Given the description of an element on the screen output the (x, y) to click on. 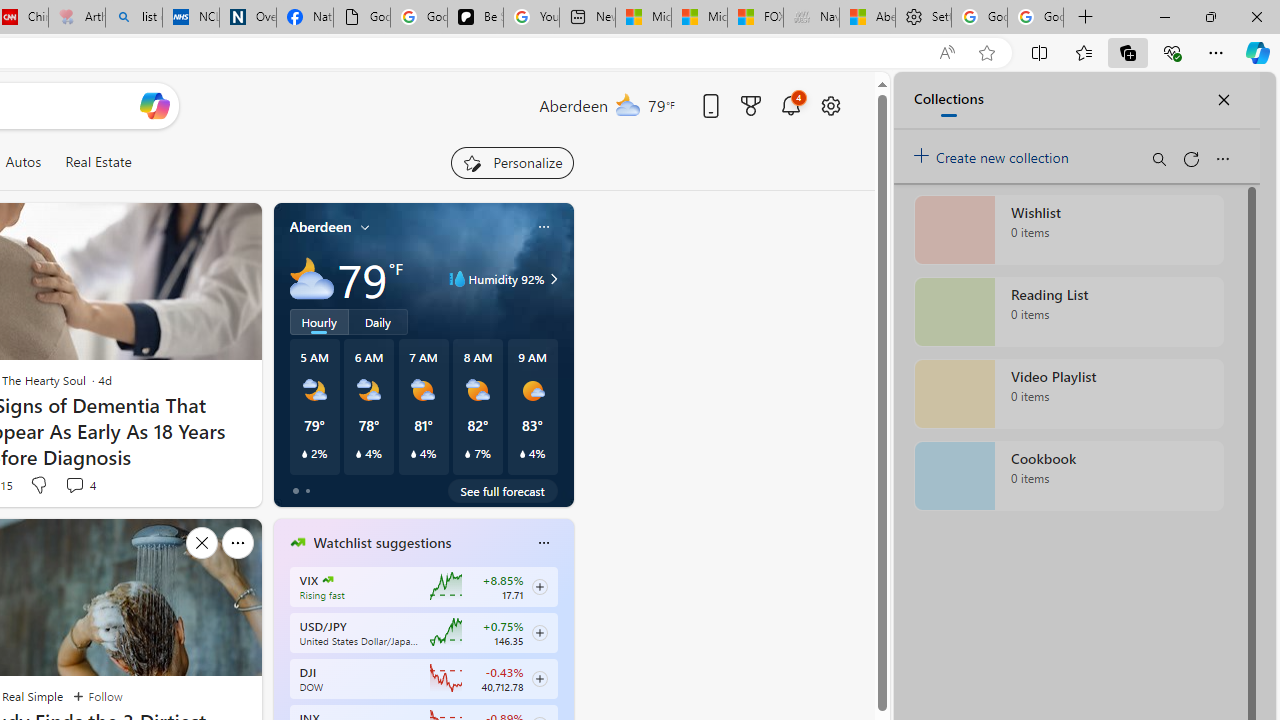
View comments 4 Comment (74, 485)
Watchlist suggestions (382, 543)
See full forecast (502, 490)
Humidity 92% (551, 278)
My location (365, 227)
Daily (378, 321)
